Given the description of an element on the screen output the (x, y) to click on. 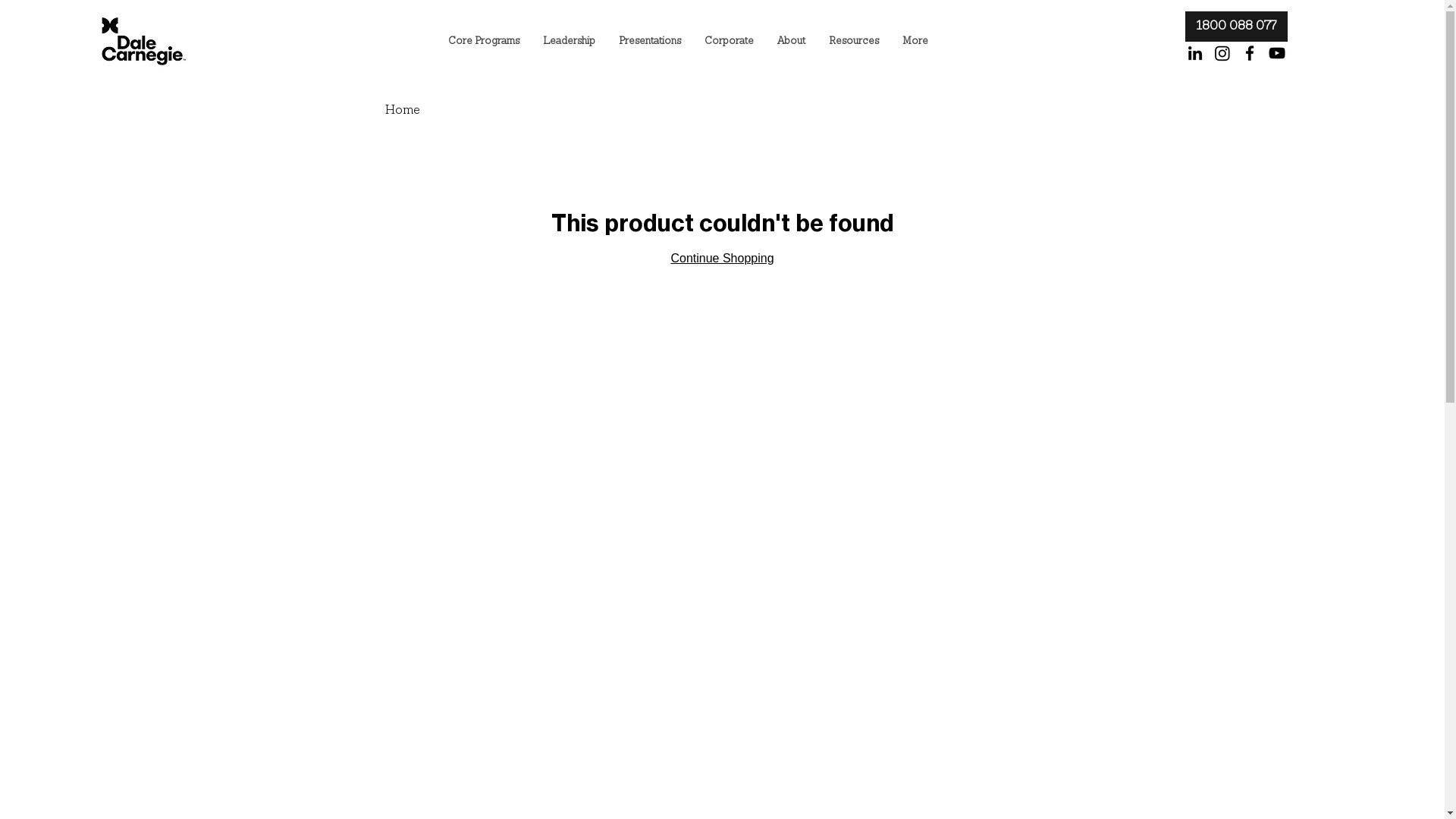
1800 088 077 Element type: text (1236, 26)
Leadership Element type: text (568, 41)
Core Programs Element type: text (483, 41)
Presentations Element type: text (649, 41)
Resources Element type: text (853, 41)
Home Element type: text (402, 110)
Corporate Element type: text (728, 41)
Continue Shopping Element type: text (721, 257)
About Element type: text (790, 41)
